Given the description of an element on the screen output the (x, y) to click on. 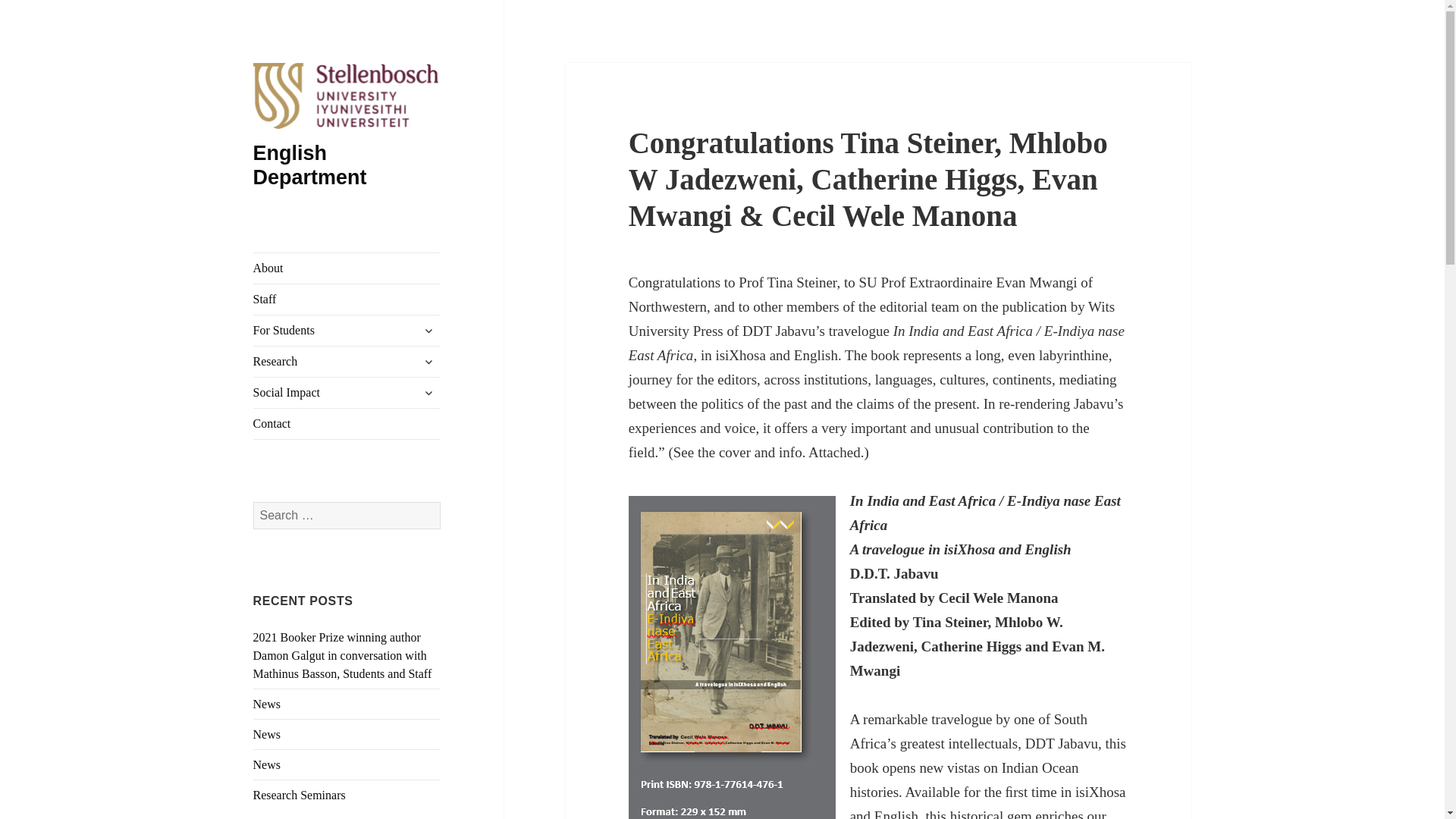
Social Impact (347, 392)
English Department (309, 165)
expand child menu (428, 361)
expand child menu (428, 330)
Research Seminars (299, 794)
News (267, 734)
expand child menu (428, 392)
For Students (347, 330)
About (347, 268)
Contact (347, 423)
Staff (347, 299)
News (267, 703)
